Given the description of an element on the screen output the (x, y) to click on. 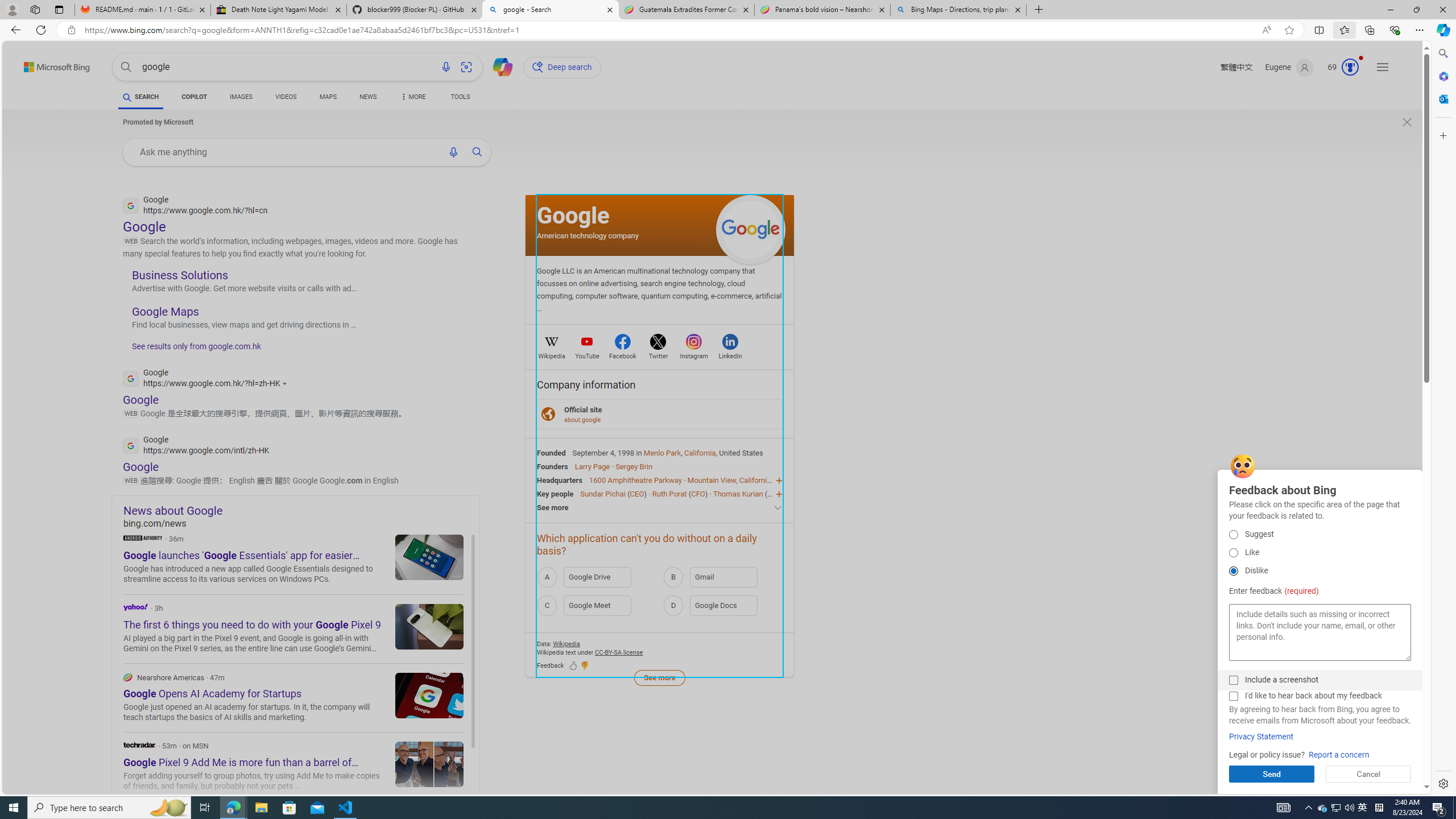
Cancel (1368, 773)
Report a concern (1339, 755)
